Given the description of an element on the screen output the (x, y) to click on. 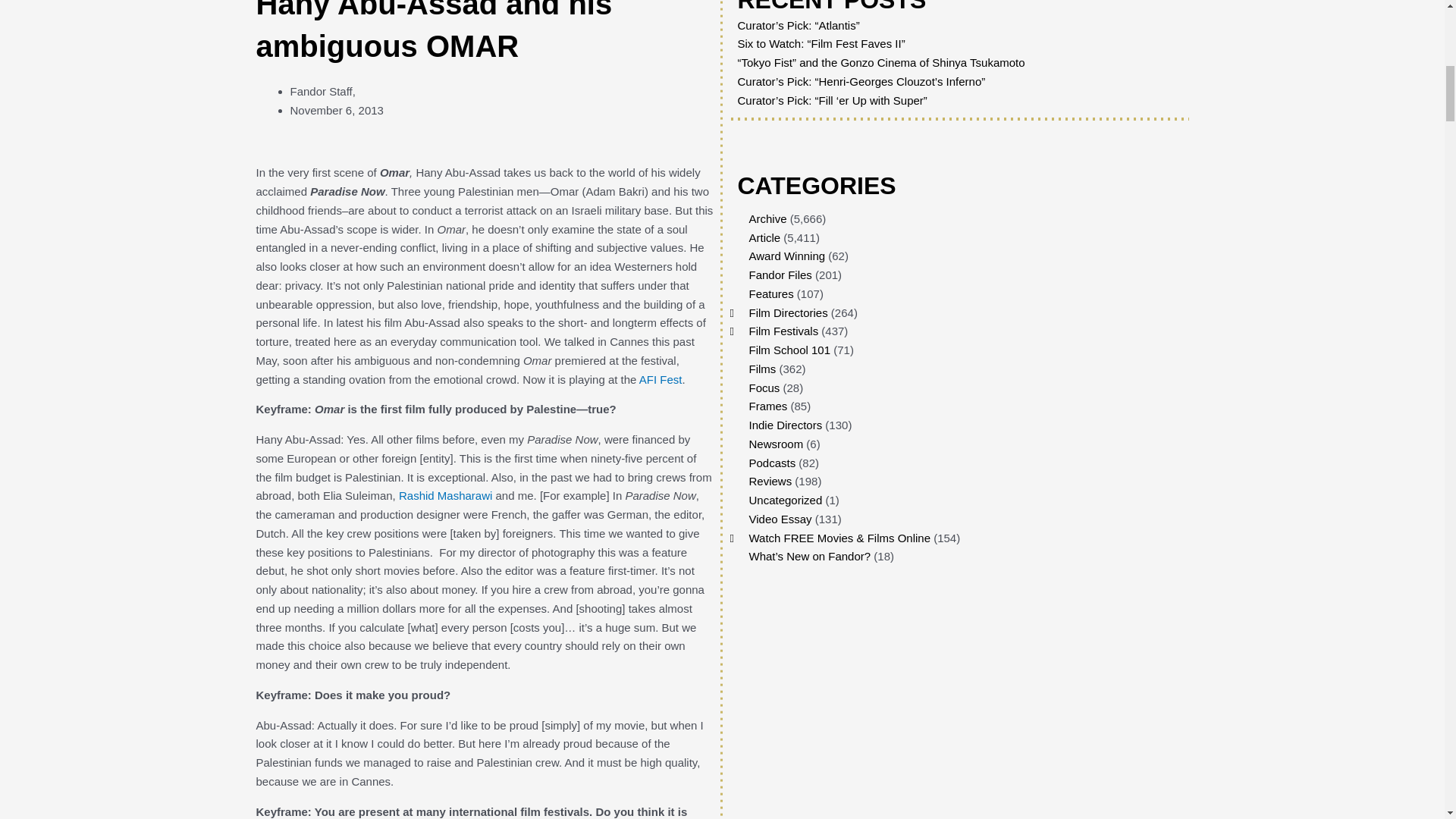
Fandor Files (780, 274)
Award Winning (787, 255)
Archive (768, 218)
Rashid Masharawi (445, 495)
Film Directories (788, 312)
AFI Fest (660, 379)
Features (771, 293)
Article (764, 237)
Film Festivals (783, 330)
Watch RASHID MASHARAWI films on Fandor. (445, 495)
